Given the description of an element on the screen output the (x, y) to click on. 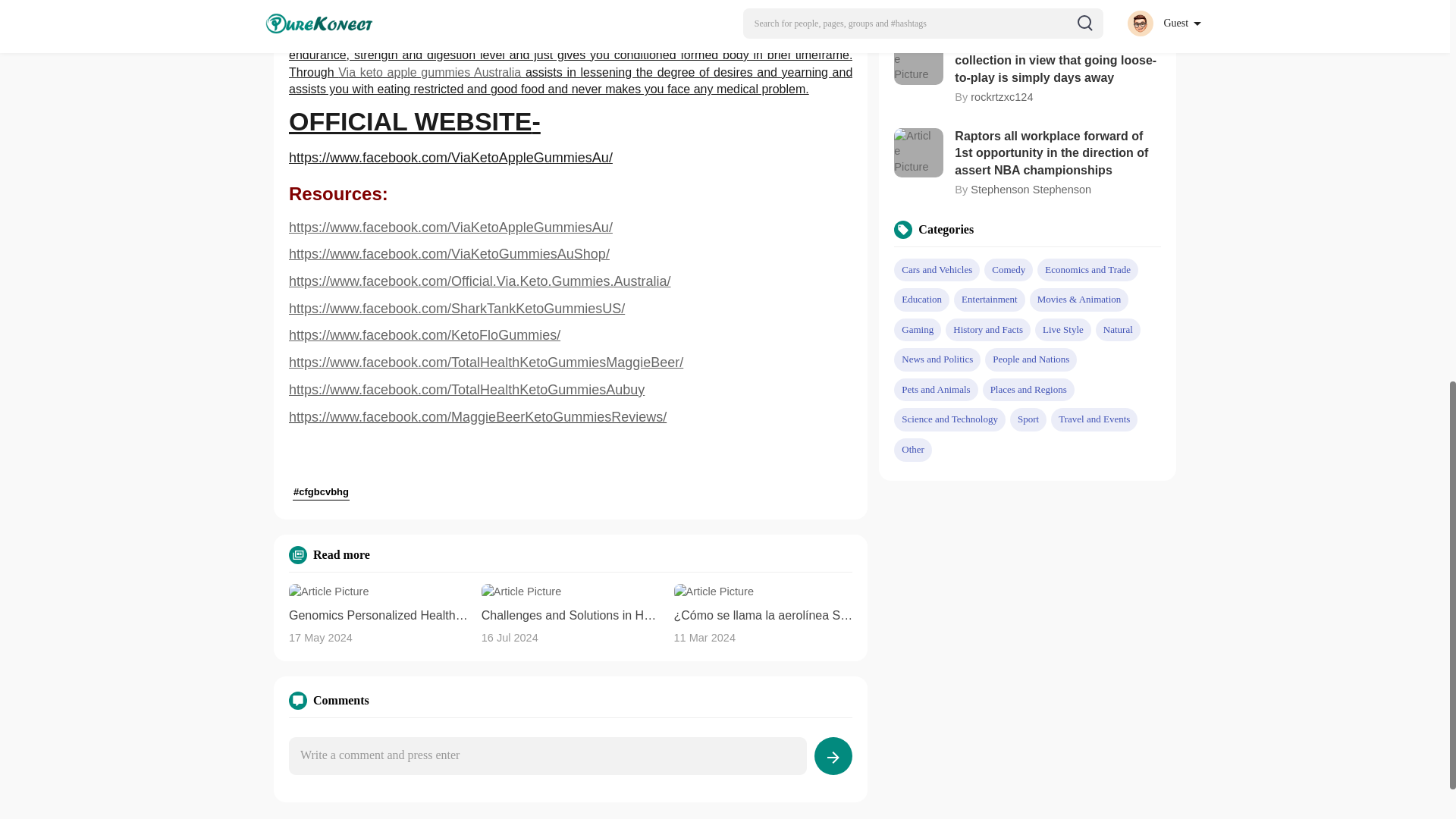
Via keto apple gummies Australia (390, 4)
Challenges and Solutions in Heavy Steel Fabrication (571, 615)
overabundance (541, 19)
Post (832, 755)
Via keto apple gummies Australia (625, 37)
keto (354, 19)
Via keto apple gummies Australia (431, 72)
